Given the description of an element on the screen output the (x, y) to click on. 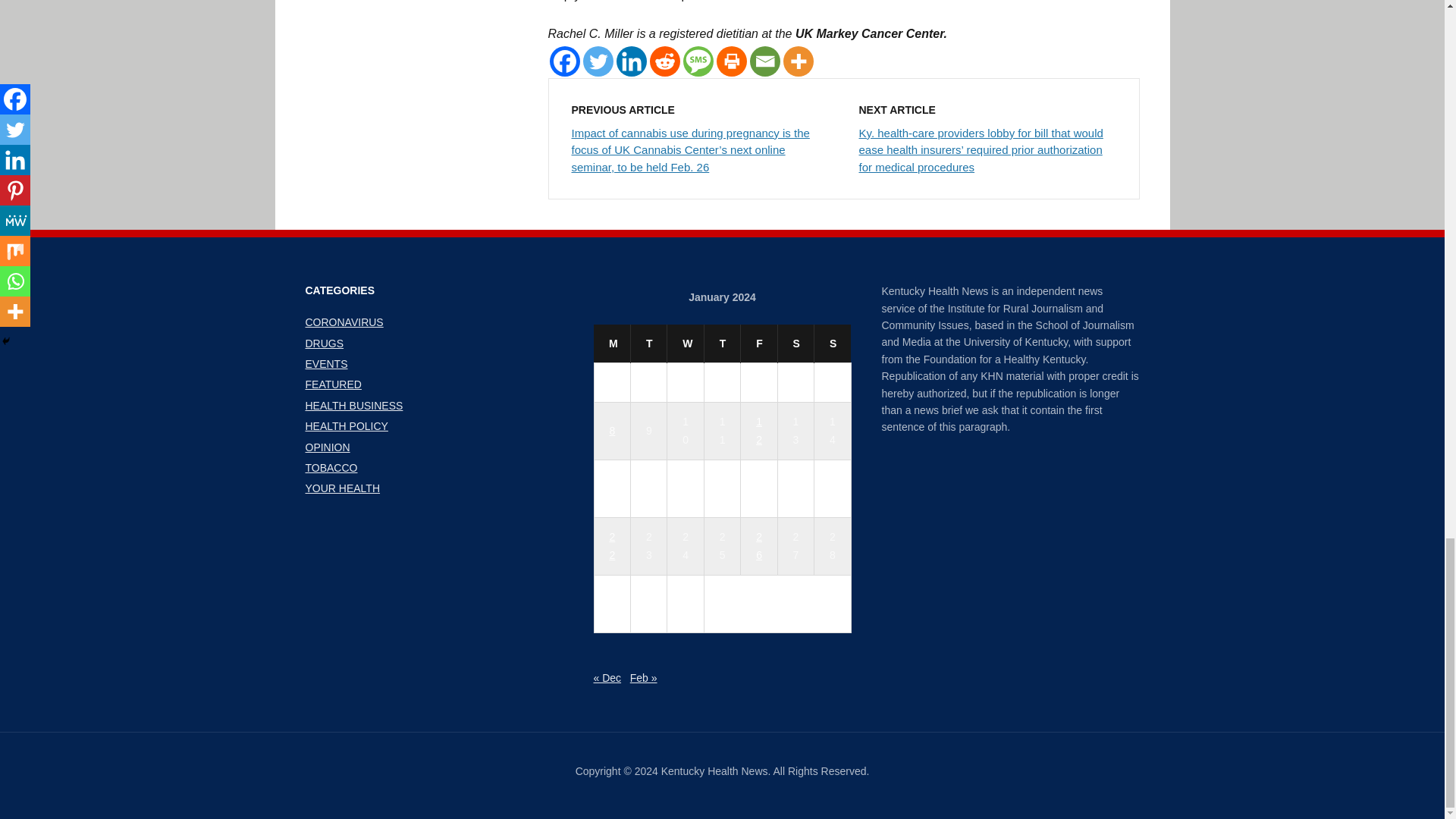
Twitter (597, 60)
SMS (697, 60)
Email (763, 60)
Reddit (664, 60)
Facebook (563, 60)
More (797, 60)
Print (730, 60)
Linkedin (630, 60)
